Given the description of an element on the screen output the (x, y) to click on. 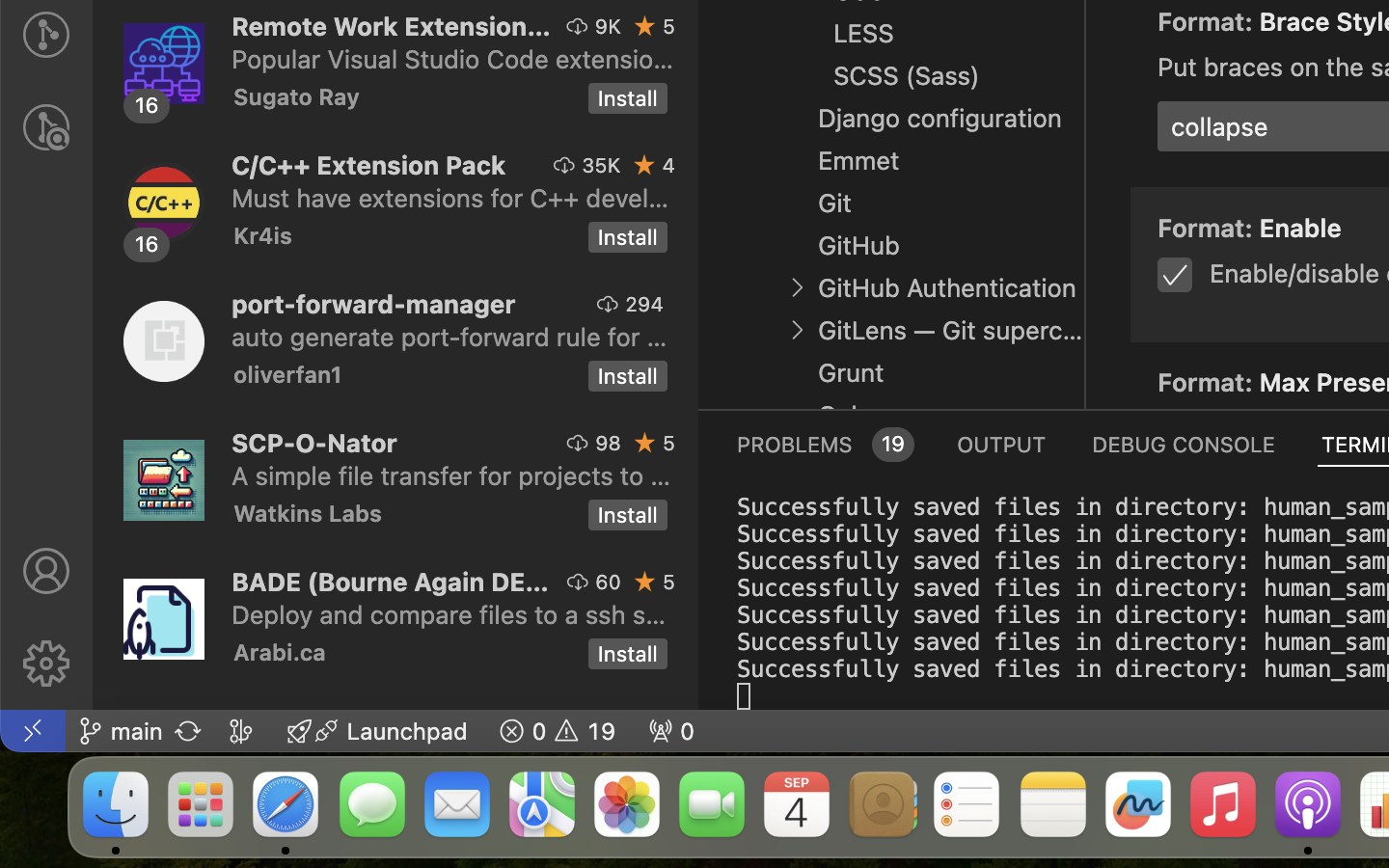
GitLens — Git supercharged Element type: AXStaticText (950, 330)
Must have extensions for C++ development in Visual Studio Code. Element type: AXStaticText (450, 197)
Deploy and compare files to a ssh server Element type: AXStaticText (449, 613)
LESS Element type: AXStaticText (864, 33)
Kr4is Element type: AXStaticText (263, 234)
